Given the description of an element on the screen output the (x, y) to click on. 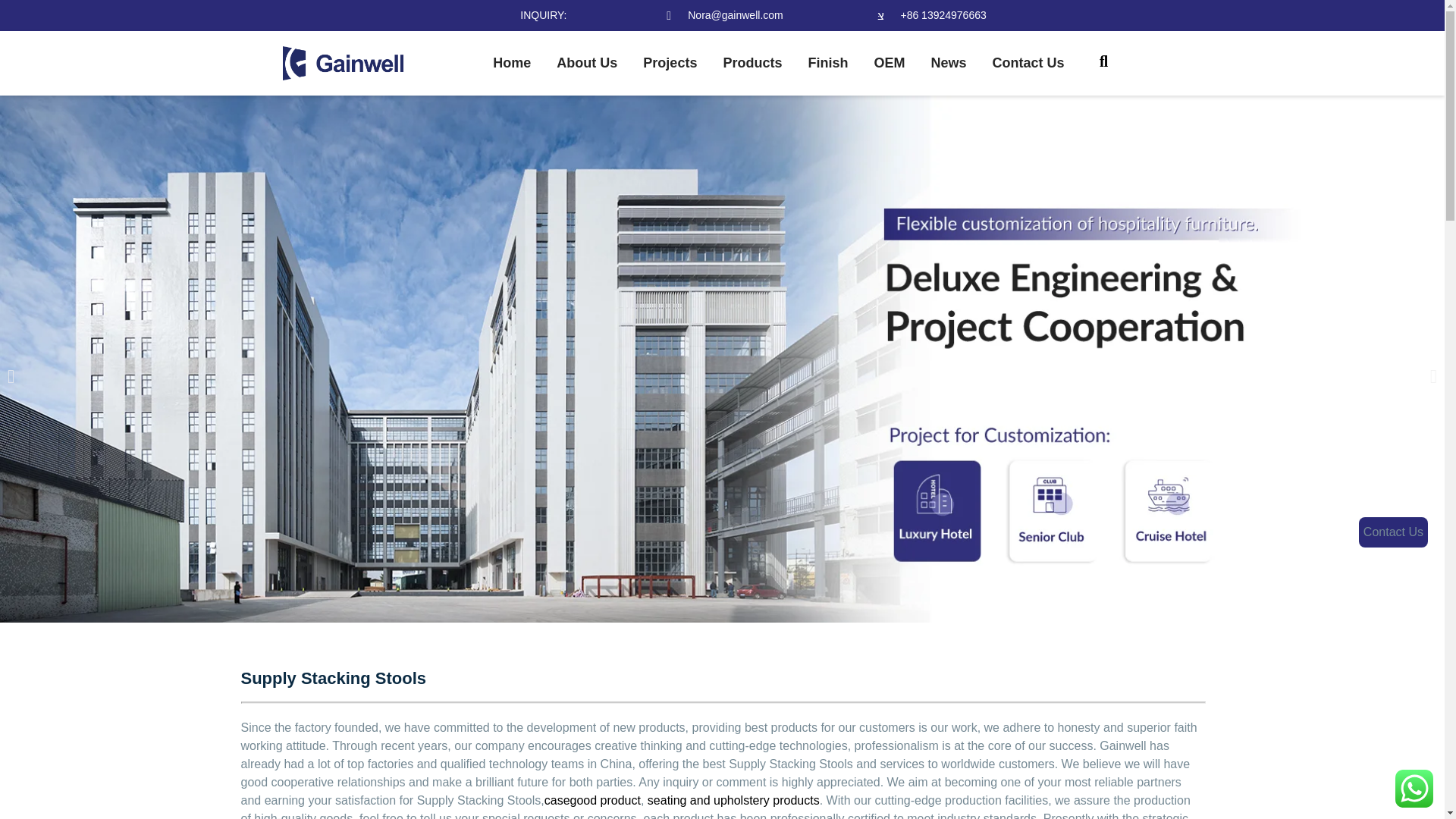
Products (752, 63)
OEM (888, 63)
casegood product (592, 799)
seating and upholstery products (733, 799)
Home (511, 63)
Projects (670, 63)
About Us (586, 63)
News (947, 63)
Contact Us (1027, 63)
Finish (827, 63)
